Given the description of an element on the screen output the (x, y) to click on. 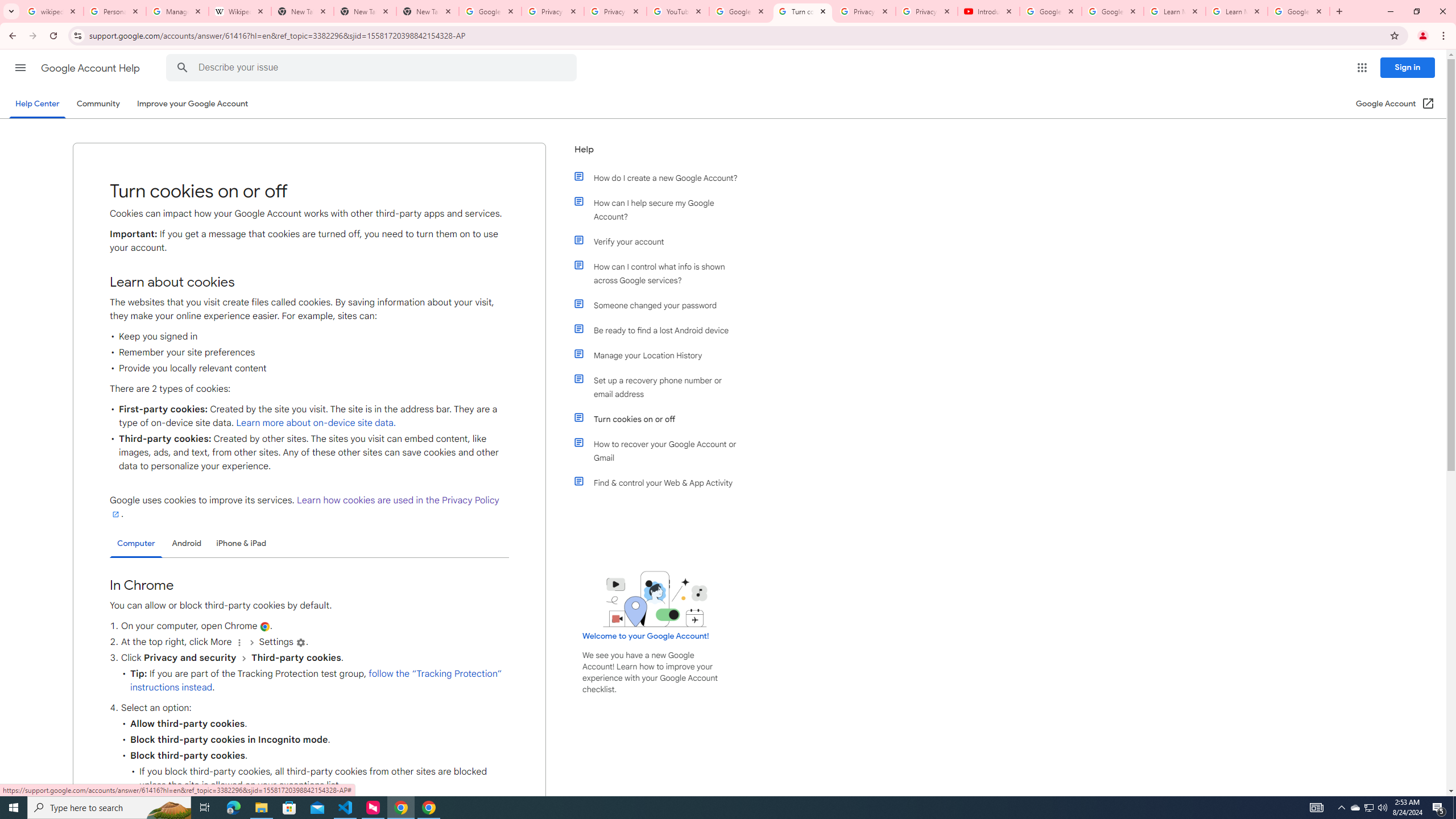
Welcome to your Google Account! (645, 635)
More (239, 642)
Google Account Help (1050, 11)
Improve your Google Account (192, 103)
Personalization & Google Search results - Google Search Help (114, 11)
Learning Center home page image (655, 598)
Help Center (36, 103)
Manage your Location History - Google Search Help (177, 11)
Turn cookies on or off - Computer - Google Account Help (802, 11)
